Given the description of an element on the screen output the (x, y) to click on. 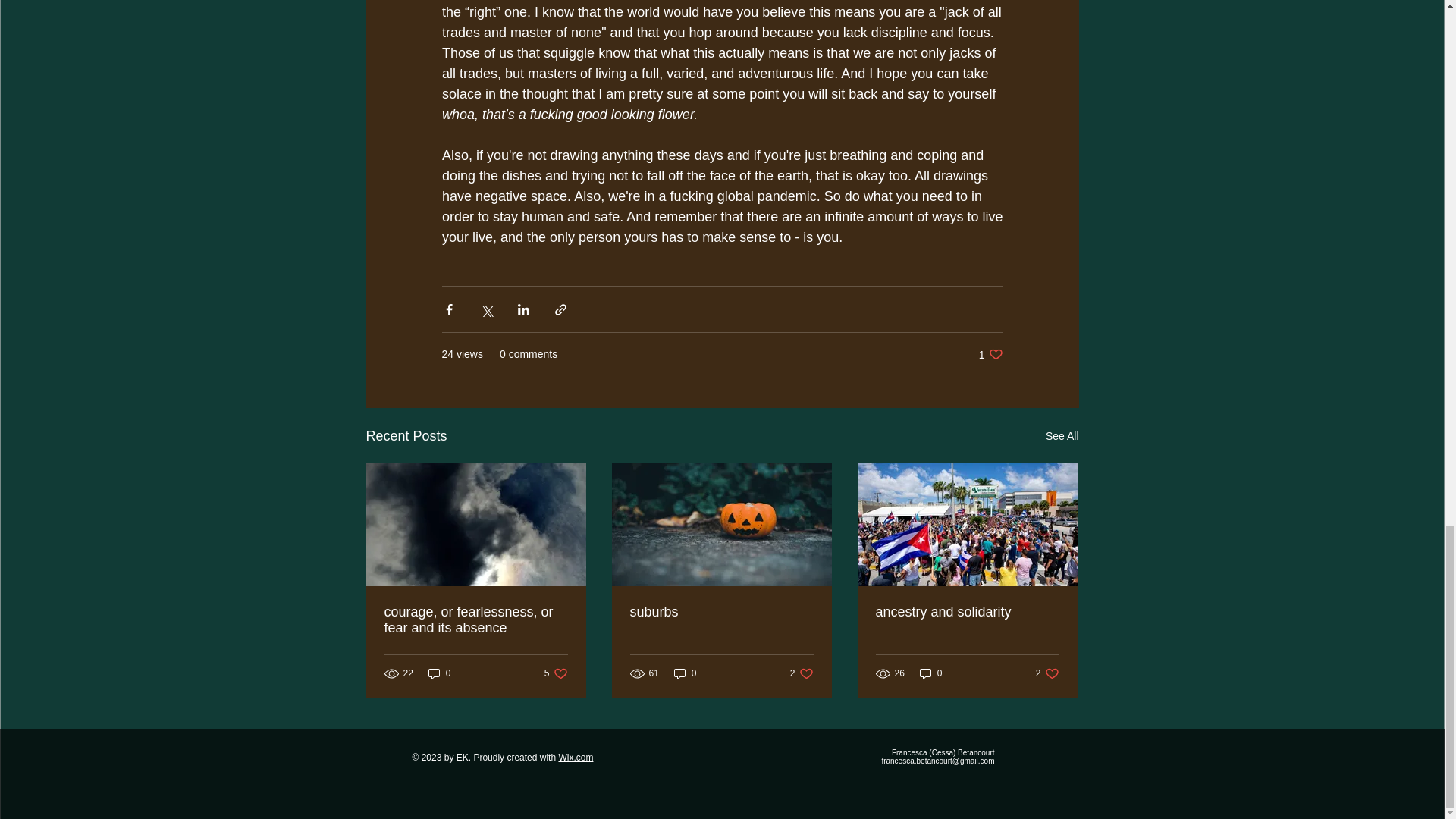
ancestry and solidarity (966, 611)
courage, or fearlessness, or fear and its absence (475, 620)
0 (439, 673)
0 (930, 673)
suburbs (720, 611)
0 (685, 673)
Wix.com (574, 757)
See All (1061, 436)
